Given the description of an element on the screen output the (x, y) to click on. 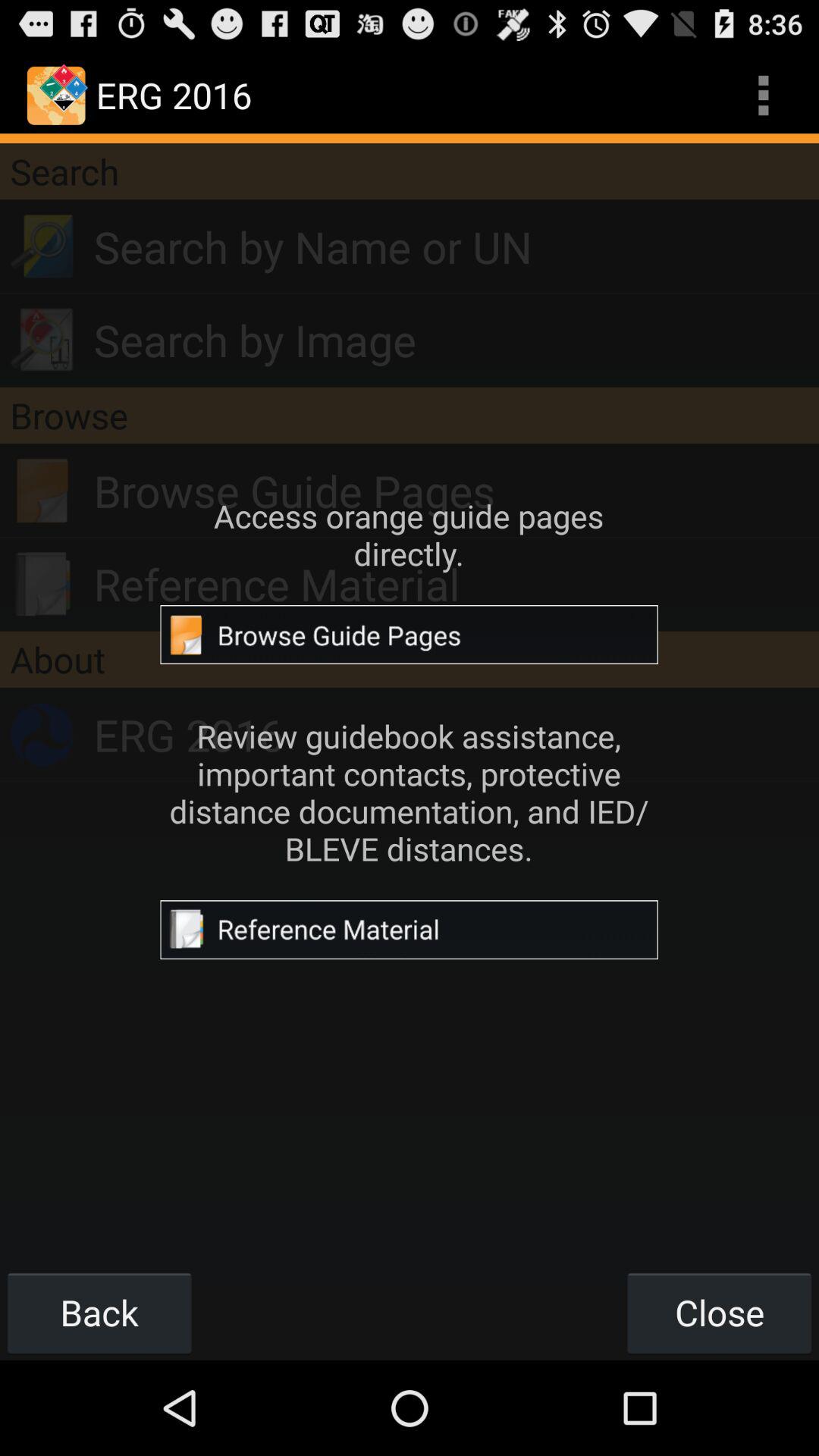
swipe to the about icon (409, 659)
